Given the description of an element on the screen output the (x, y) to click on. 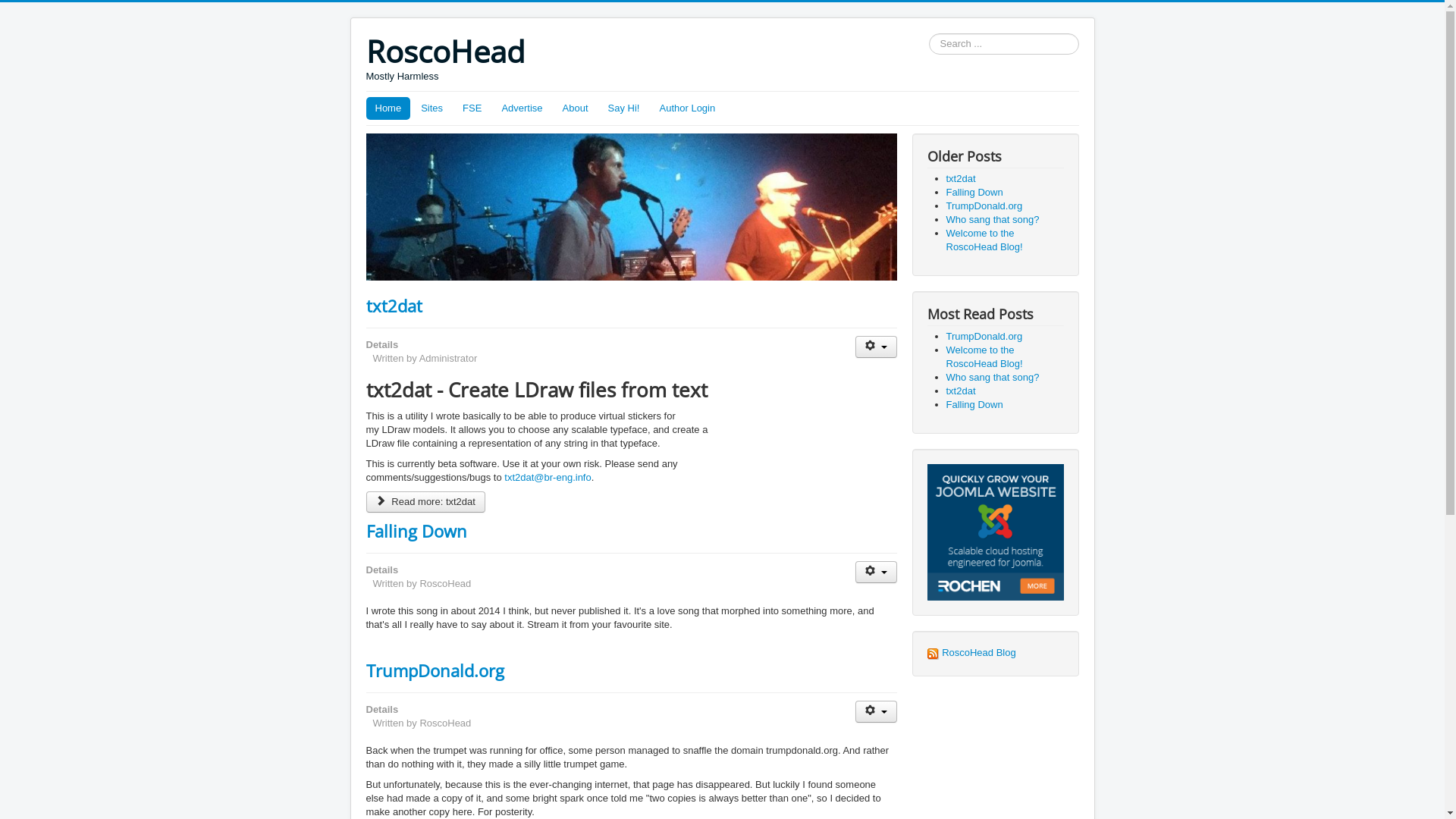
TrumpDonald.org Element type: text (984, 336)
Author Login Element type: text (686, 108)
Welcome to the RoscoHead Blog! Element type: text (984, 239)
Who sang that song? Element type: text (992, 219)
TrumpDonald.org Element type: text (434, 669)
Home Element type: text (387, 108)
RoscoHead Blog Element type: text (970, 652)
txt2dat Element type: text (960, 390)
FSE Element type: text (471, 108)
txt2dat Element type: text (960, 178)
Rochen Hosting (right) Element type: hover (994, 530)
Say Hi! Element type: text (624, 108)
txt2dat@br-eng.info Element type: text (547, 477)
Falling Down Element type: text (974, 404)
Who sang that song? Element type: text (992, 376)
Falling Down Element type: text (415, 530)
Read more: txt2dat Element type: text (424, 501)
TrumpDonald.org Element type: text (984, 205)
About Element type: text (575, 108)
txt2dat Element type: text (393, 305)
Sites Element type: text (431, 108)
Falling Down Element type: text (974, 191)
Advertise Element type: text (521, 108)
RoscoHead
Mostly Harmless Element type: text (444, 58)
Welcome to the RoscoHead Blog! Element type: text (984, 356)
